Given the description of an element on the screen output the (x, y) to click on. 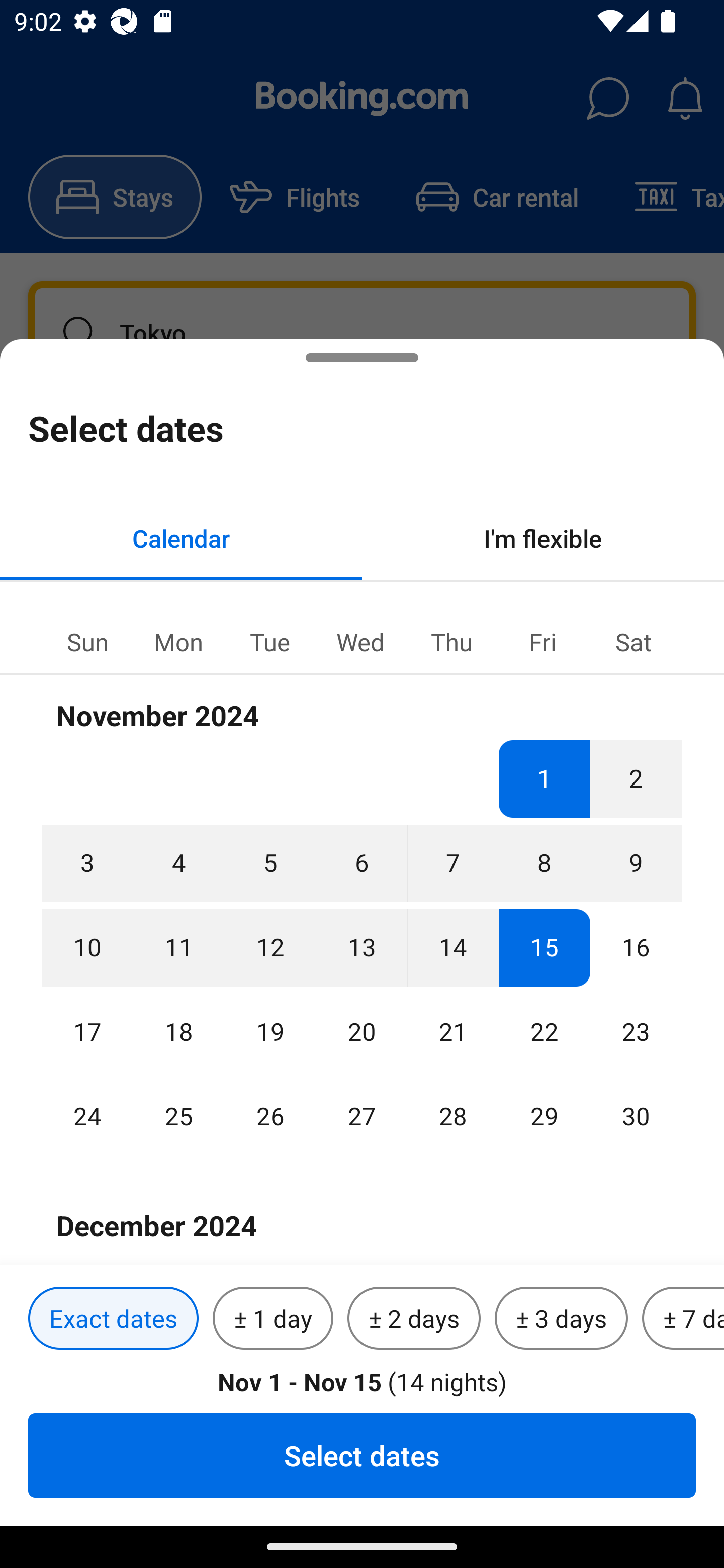
I'm flexible (543, 537)
Exact dates (113, 1318)
± 1 day (272, 1318)
± 2 days (413, 1318)
± 3 days (560, 1318)
± 7 days (683, 1318)
Select dates (361, 1454)
